Given the description of an element on the screen output the (x, y) to click on. 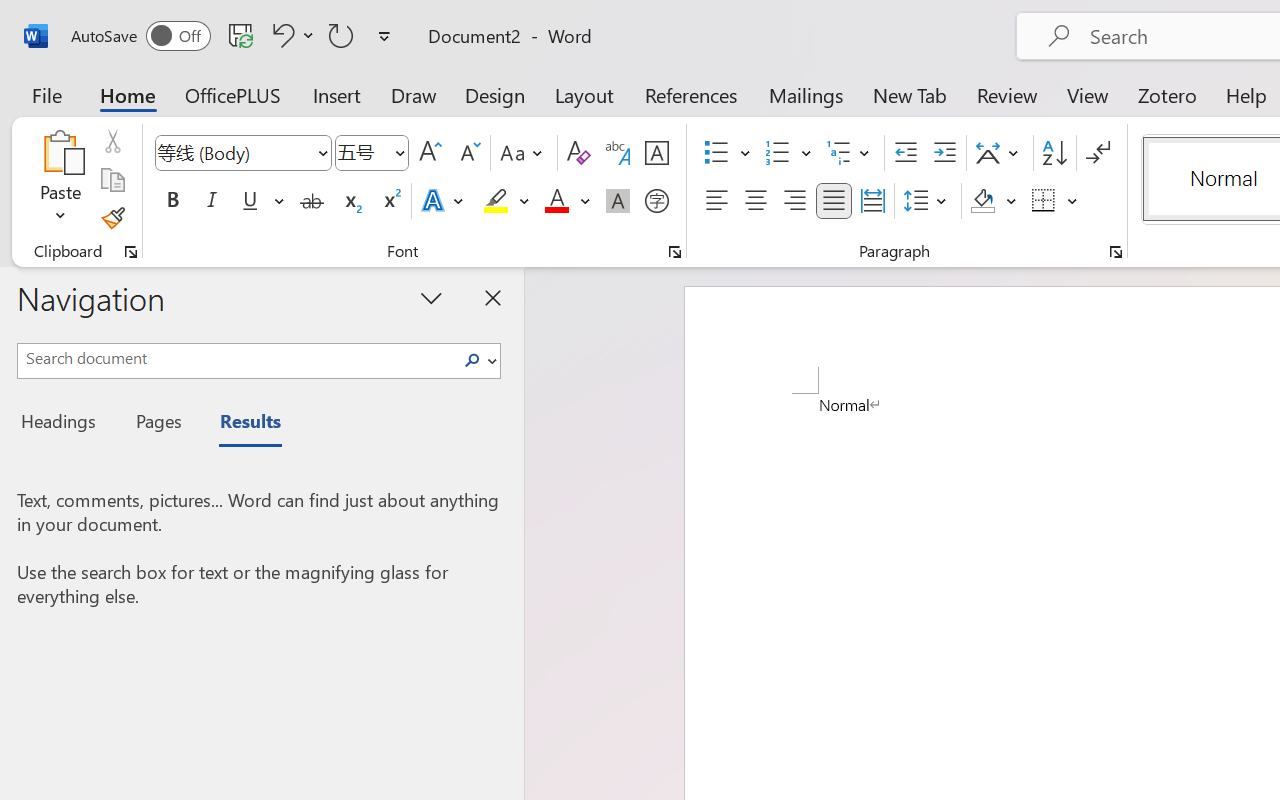
References (690, 94)
Text Effects and Typography (444, 201)
Paragraph... (1115, 252)
Grow Font (430, 153)
Undo Apply Quick Style (280, 35)
Align Right (794, 201)
Zotero (1166, 94)
Search document (236, 358)
Pages (156, 424)
Shading (993, 201)
Italic (212, 201)
Multilevel List (850, 153)
Quick Access Toolbar (233, 36)
Headings (64, 424)
Font (242, 153)
